Given the description of an element on the screen output the (x, y) to click on. 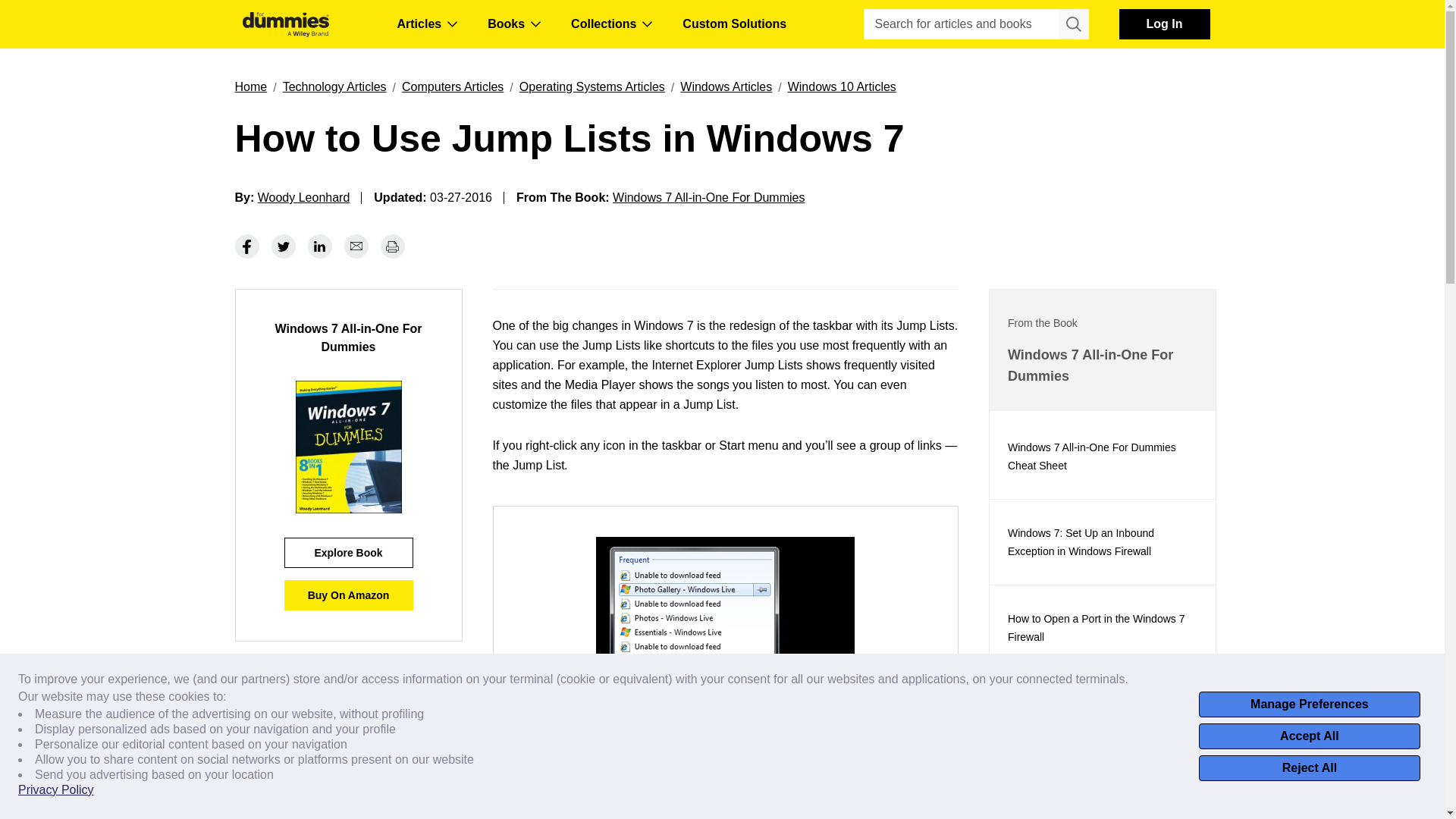
Reject All (1309, 768)
Accept All (1309, 736)
Manage Preferences (1309, 704)
Custom Solutions (734, 24)
Privacy Policy (55, 789)
